Given the description of an element on the screen output the (x, y) to click on. 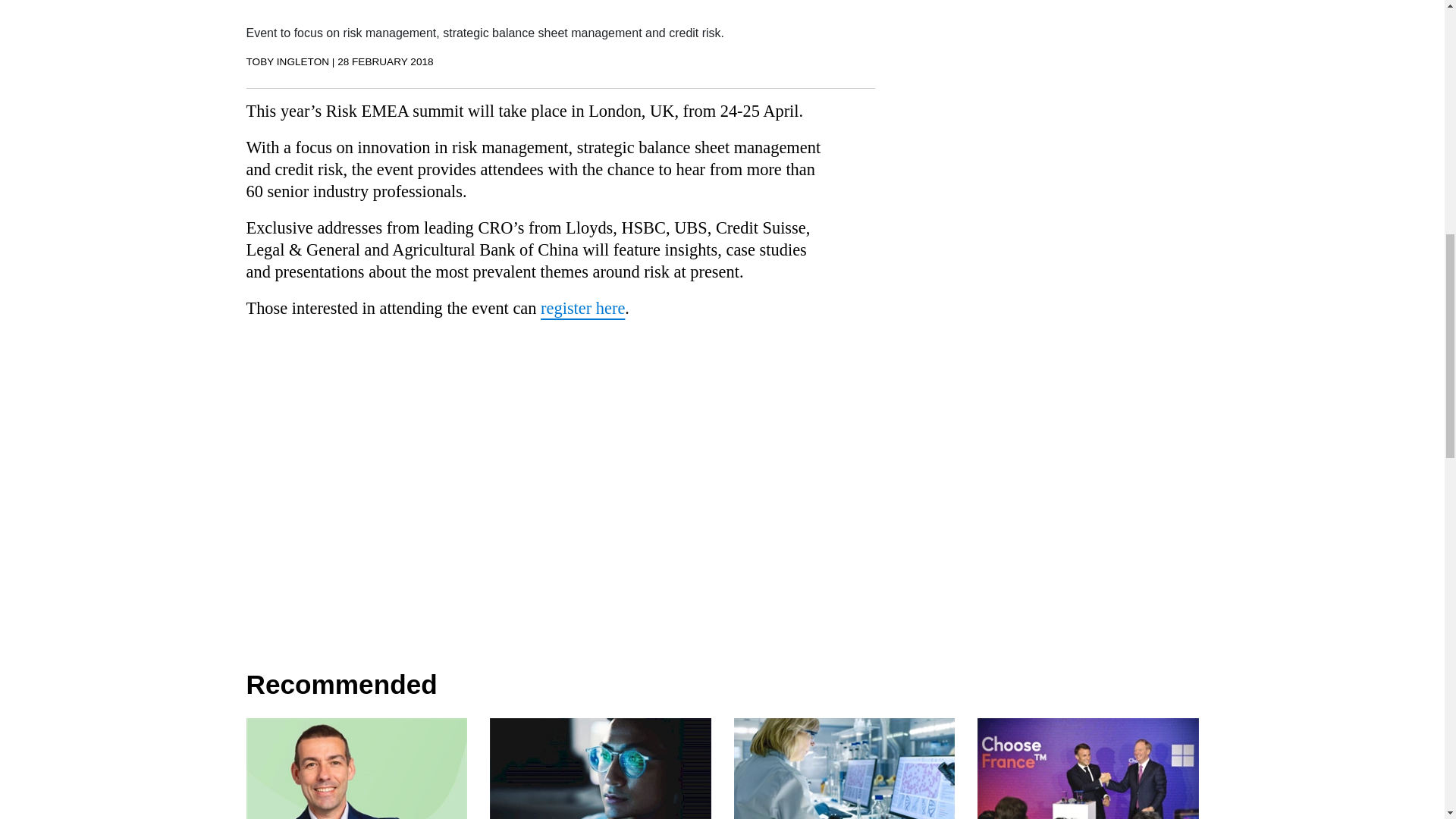
Understanding health data with cloud solutions (844, 779)
Cloud and the public sector: a journey to efficiency (600, 779)
